Given the description of an element on the screen output the (x, y) to click on. 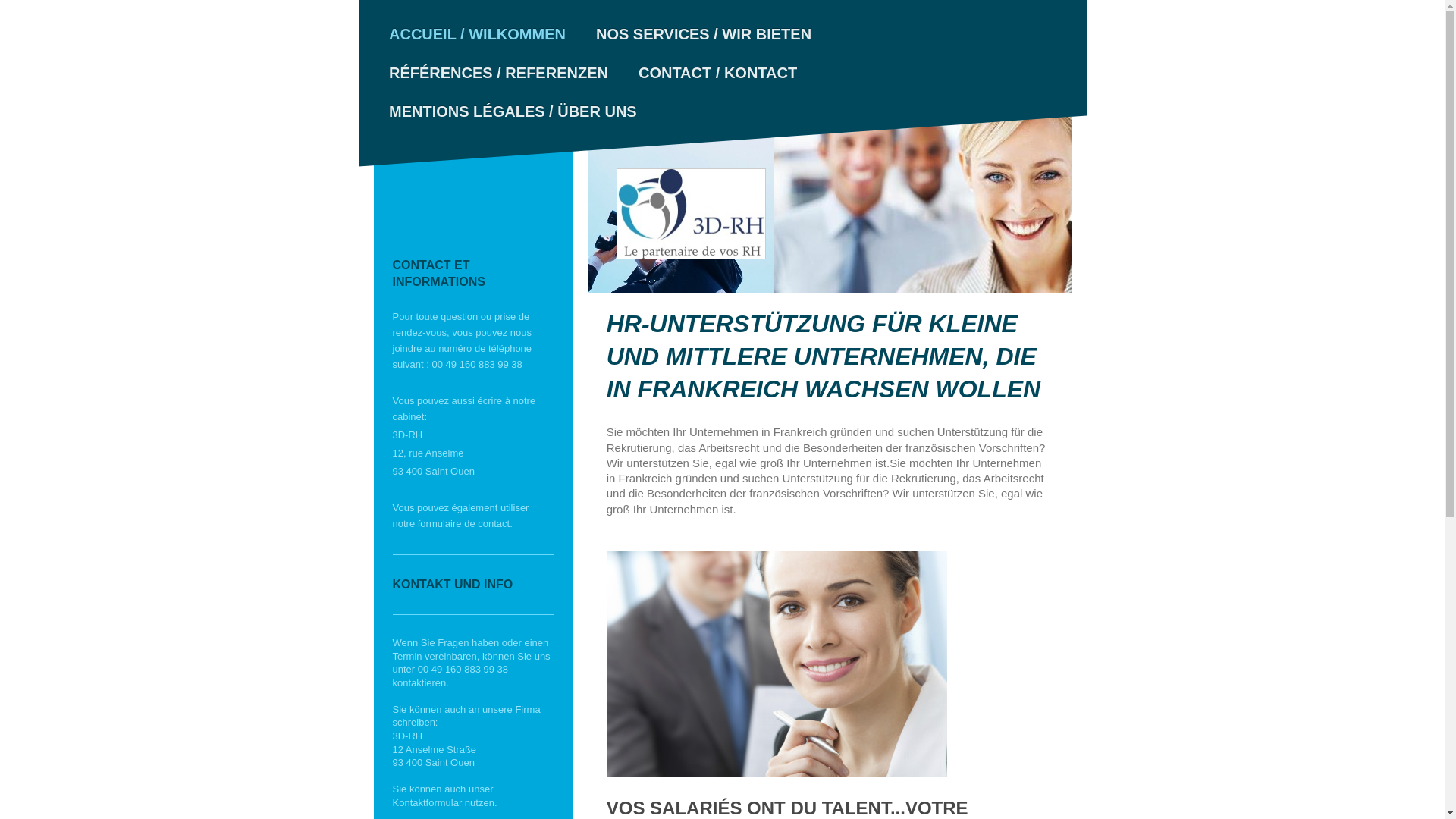
ACCUEIL / WILKOMMEN Element type: text (476, 34)
NOS SERVICES / WIR BIETEN Element type: text (702, 34)
CONTACT / KONTACT Element type: text (716, 72)
